Given the description of an element on the screen output the (x, y) to click on. 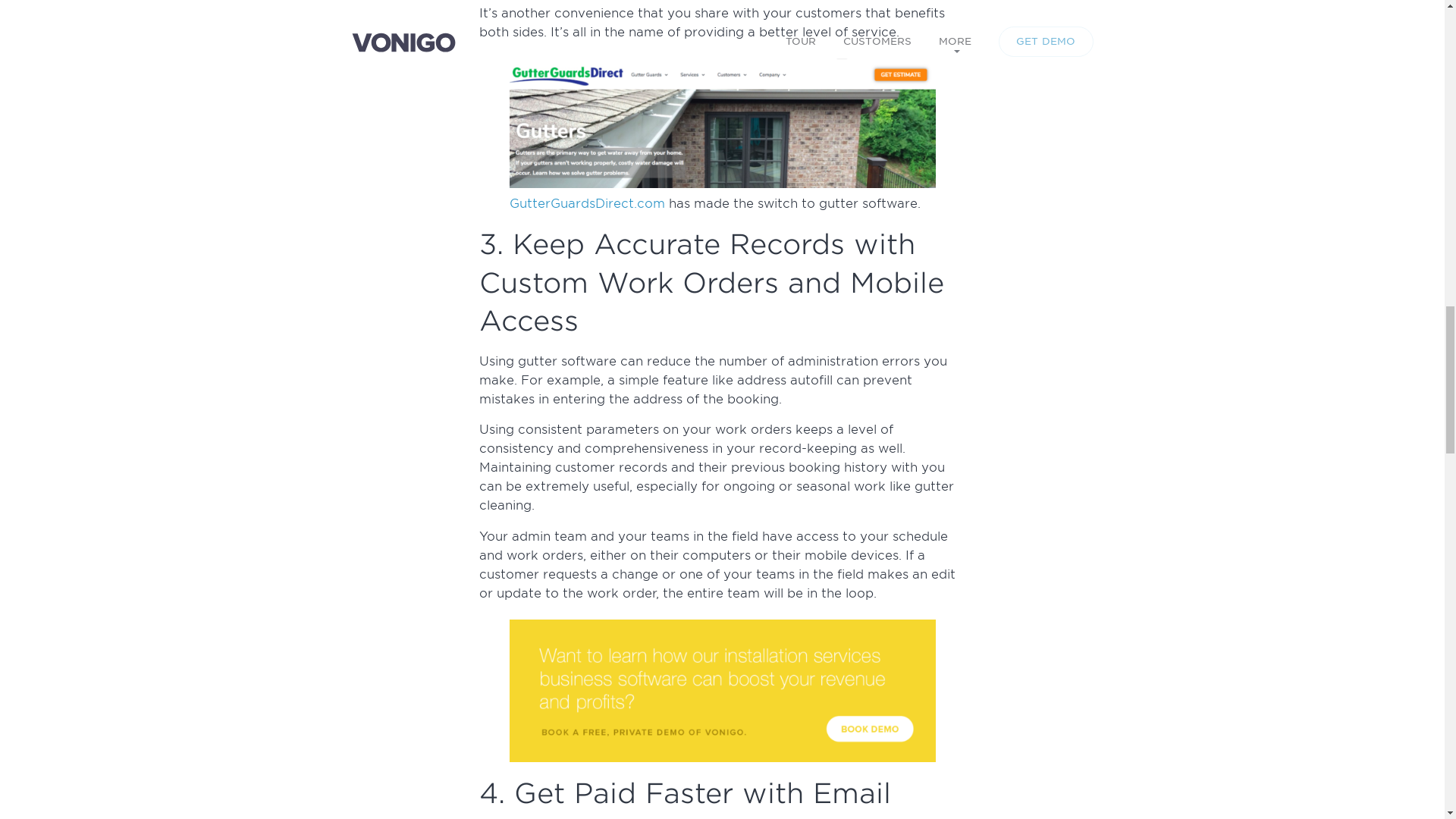
GutterGuardsDirect.com (587, 203)
